Given the description of an element on the screen output the (x, y) to click on. 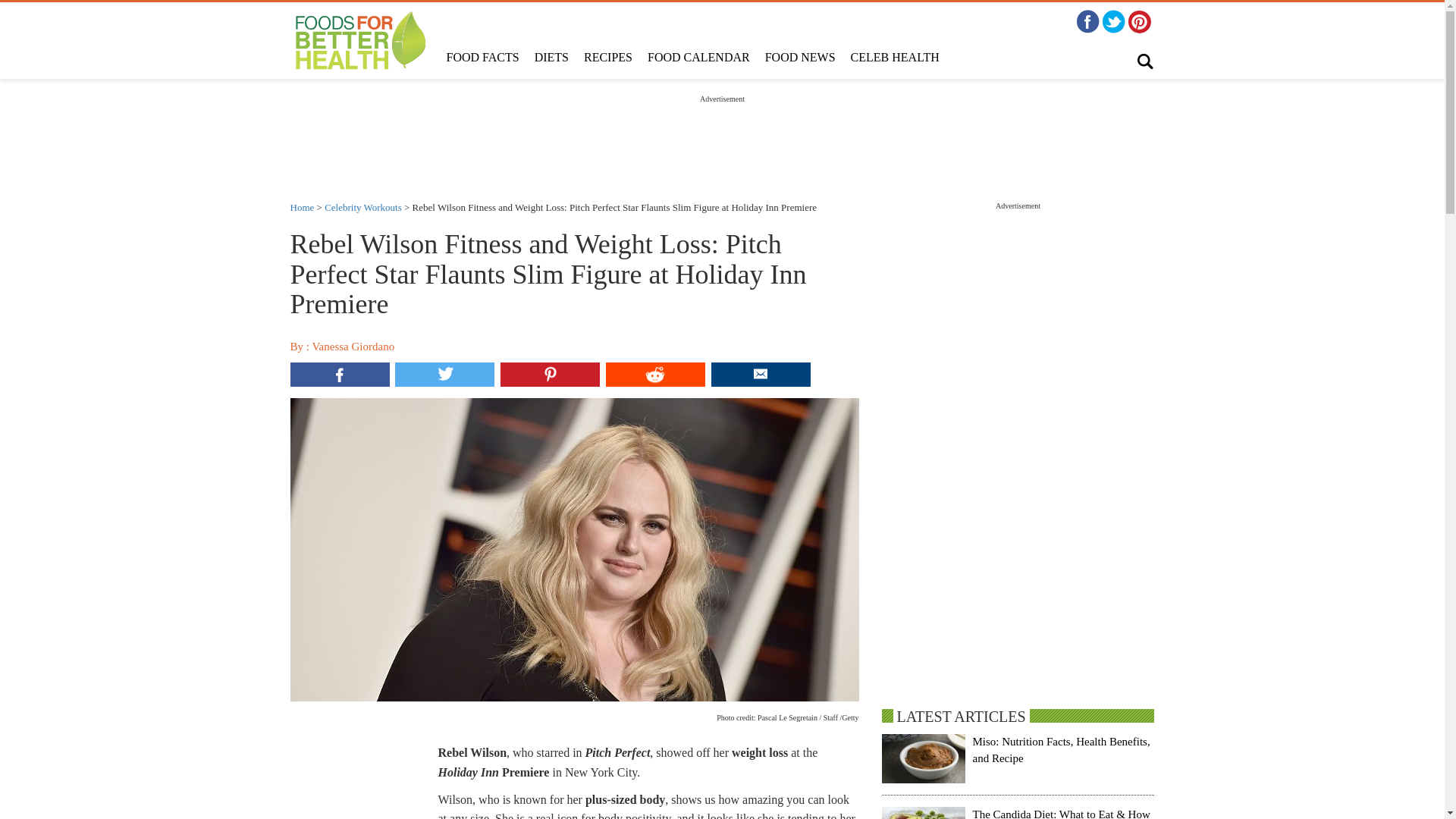
Home (301, 206)
FOOD CALENDAR (698, 57)
CELEB HEALTH (895, 57)
Vanessa Giordano (352, 346)
FOOD NEWS (800, 57)
FOOD FACTS (481, 57)
Posts by Vanessa Giordano (352, 346)
Celebrity Workouts (362, 206)
Miso: Nutrition Facts, Health Benefits, and Recipe (1061, 749)
RECIPES (608, 57)
DIETS (551, 57)
